Given the description of an element on the screen output the (x, y) to click on. 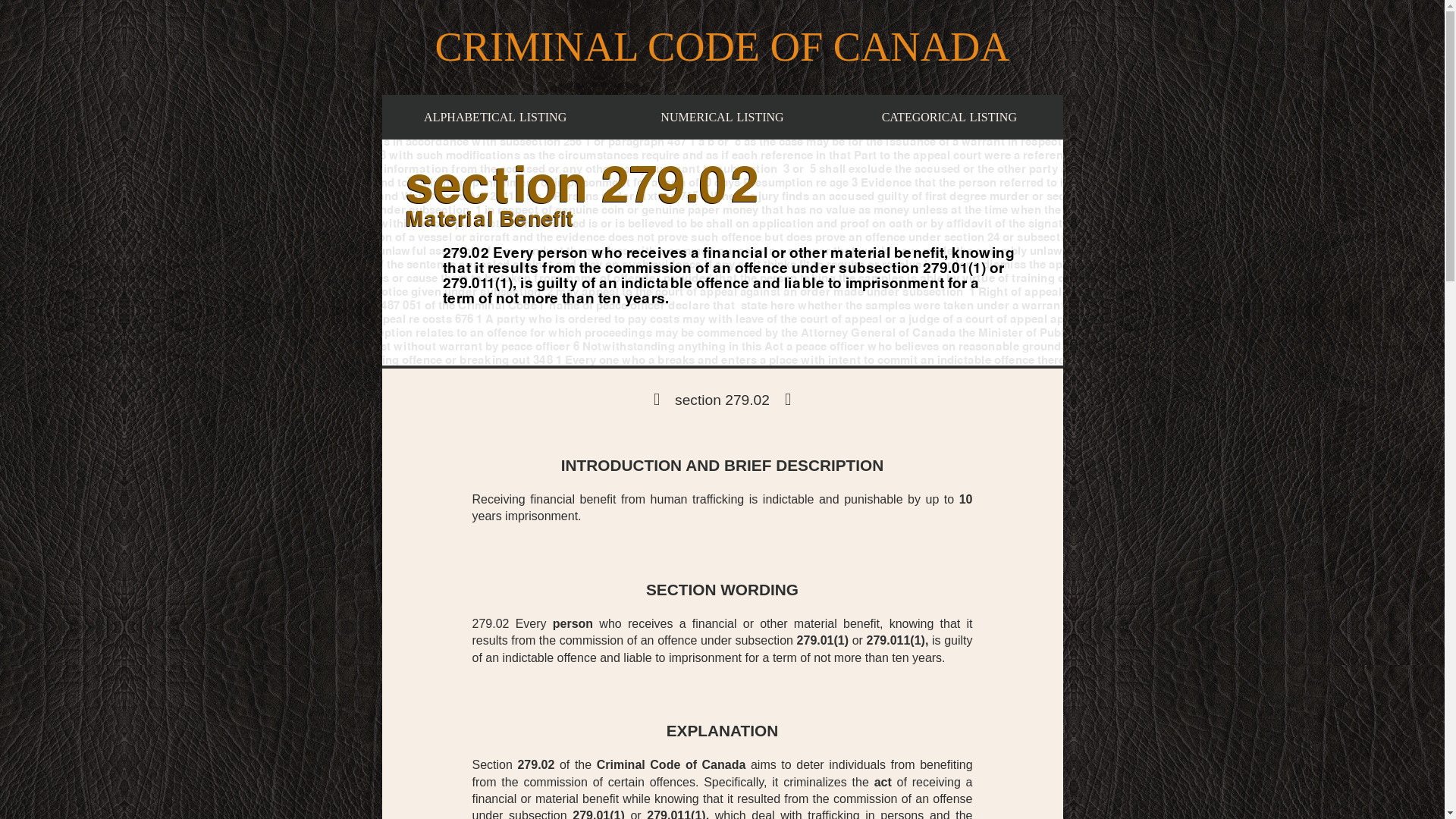
numerical guide to the Criminal Code of Canada (721, 117)
act (883, 781)
10 (965, 499)
The definition of the term  (883, 781)
Criminal Code of Canada (721, 117)
alphabetical guide to the Criminal Code of Canada (670, 764)
279.02 (494, 117)
